Given the description of an element on the screen output the (x, y) to click on. 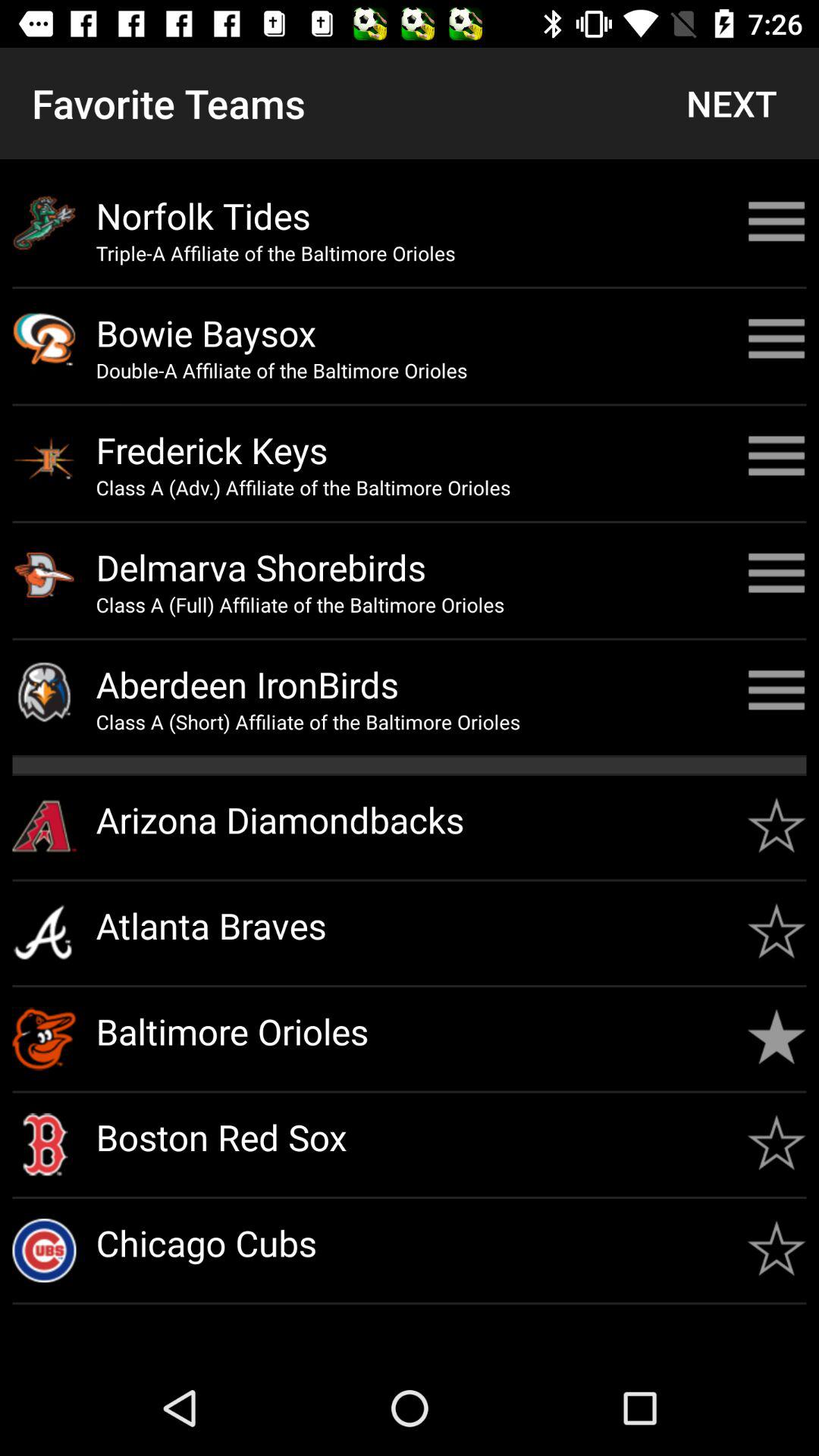
flip to next button (731, 103)
